Given the description of an element on the screen output the (x, y) to click on. 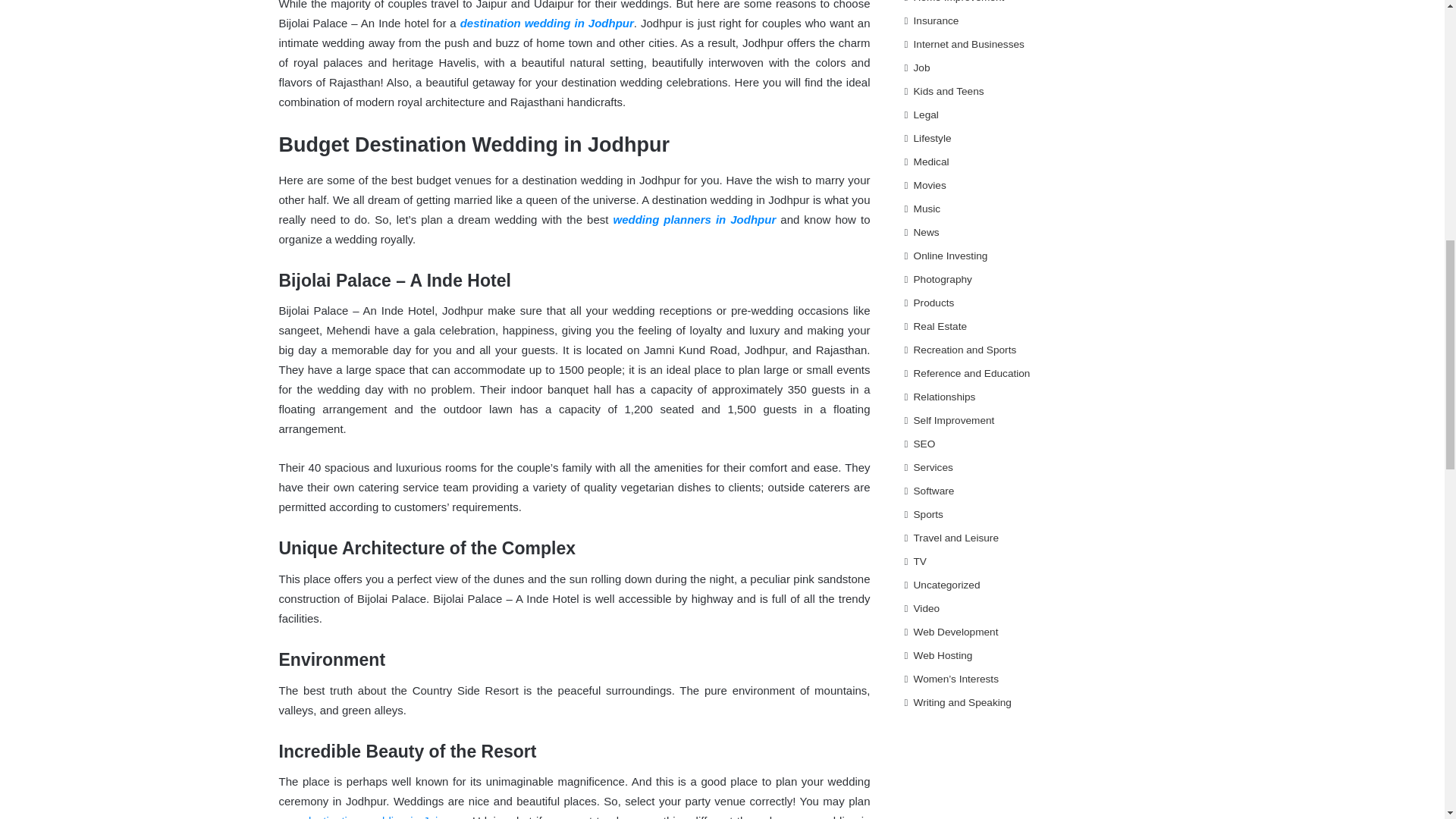
wedding planners in Jodhpur (694, 219)
destination wedding in Jaipur (379, 816)
destination wedding in Jodhpur (546, 22)
